Given the description of an element on the screen output the (x, y) to click on. 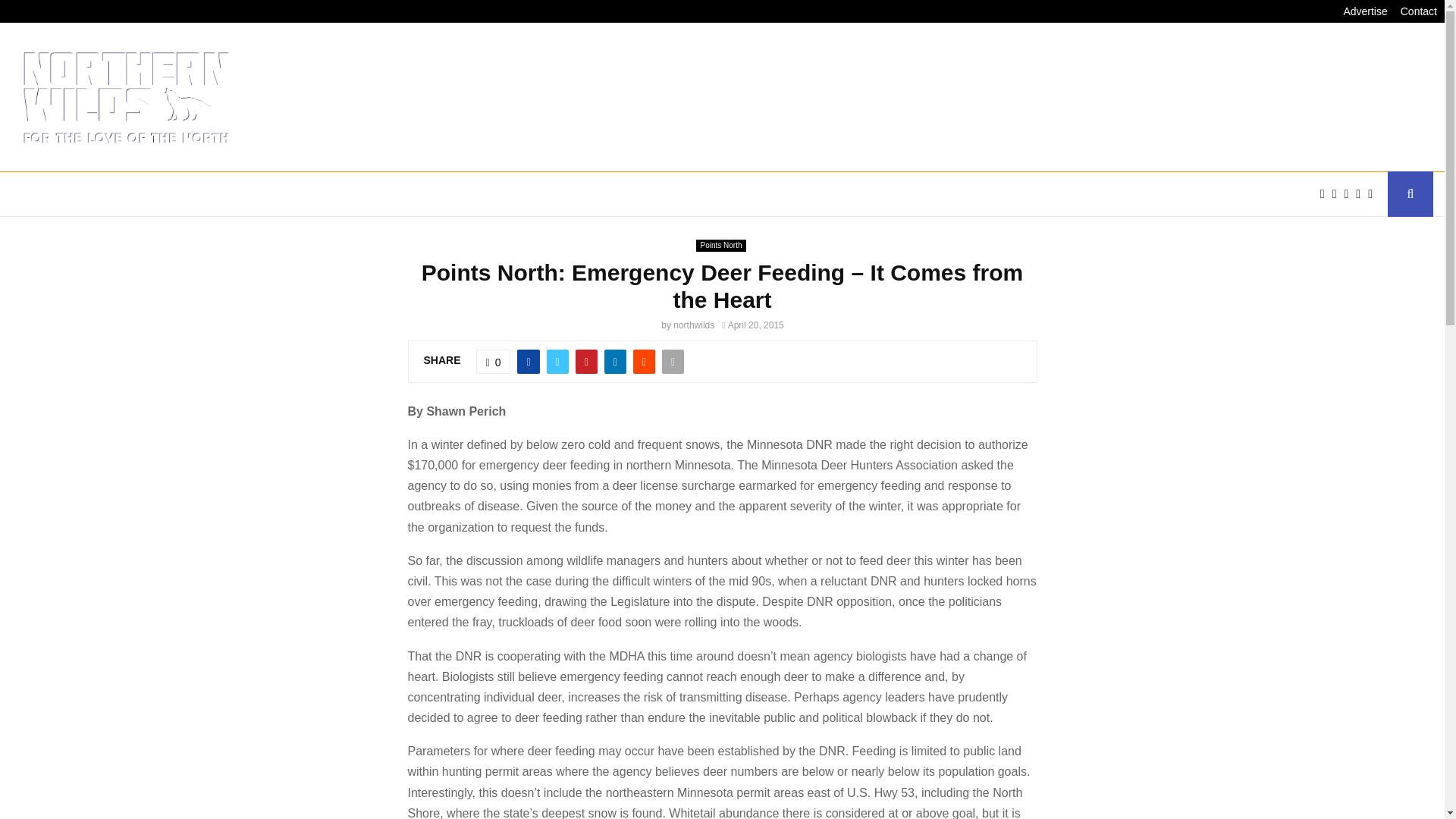
STORIES (300, 194)
HOME (39, 194)
Like (493, 361)
EVENTS CALENDAR (401, 194)
CONTESTS (509, 194)
REAL ESTATE (600, 194)
E-EDITIONS (109, 194)
Contact (1418, 11)
Advertise (1364, 11)
SHOP (675, 194)
